Given the description of an element on the screen output the (x, y) to click on. 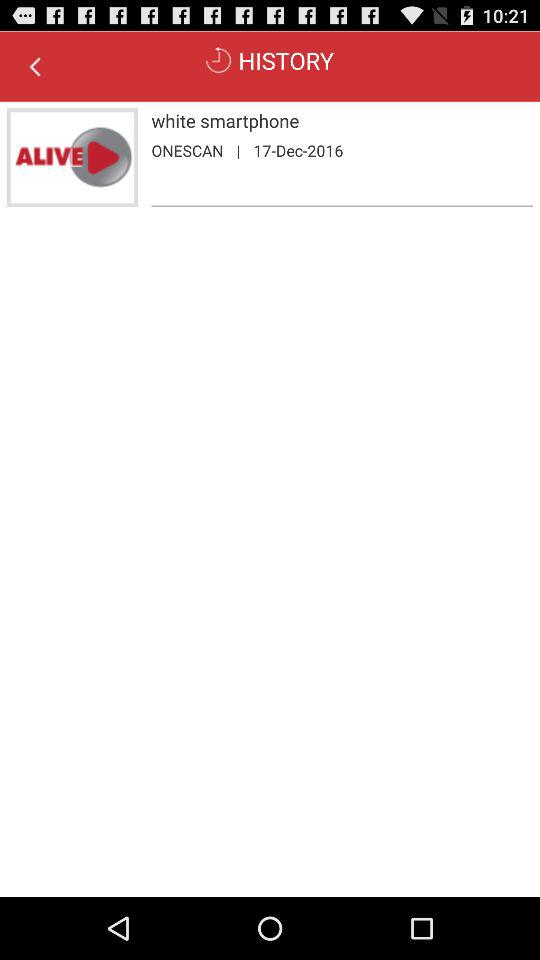
launch the icon next to white smartphone icon (72, 157)
